Given the description of an element on the screen output the (x, y) to click on. 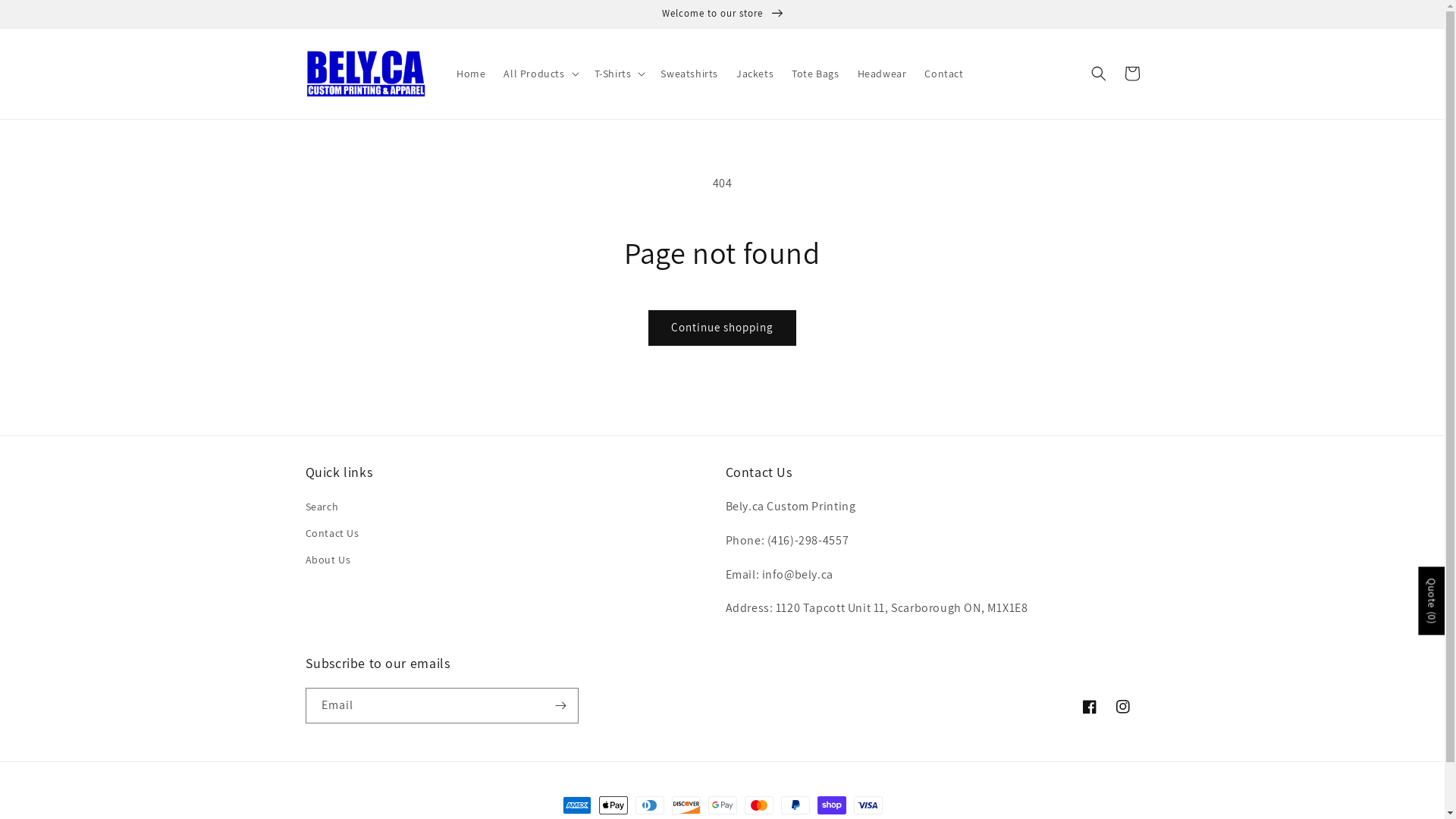
Cart Element type: text (1131, 73)
Search Element type: text (321, 508)
Contact Us Element type: text (331, 533)
Facebook Element type: text (1088, 706)
Home Element type: text (470, 73)
Contact Element type: text (943, 73)
Continue shopping Element type: text (722, 327)
Jackets Element type: text (754, 73)
Tote Bags Element type: text (814, 73)
Instagram Element type: text (1122, 706)
Sweatshirts Element type: text (689, 73)
About Us Element type: text (327, 559)
Headwear Element type: text (882, 73)
Welcome to our store Element type: text (722, 14)
